Given the description of an element on the screen output the (x, y) to click on. 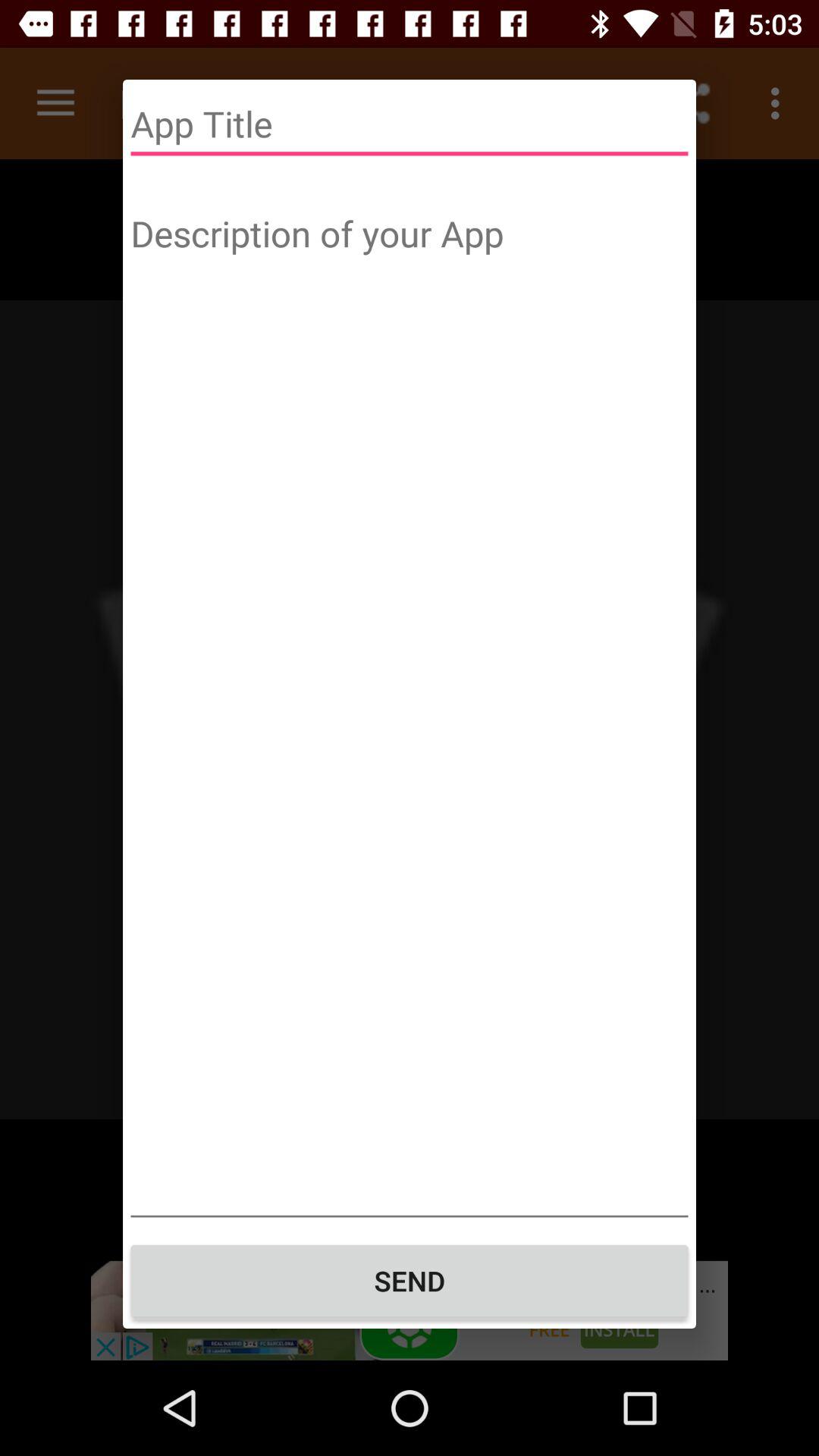
description of your app text box (409, 711)
